Given the description of an element on the screen output the (x, y) to click on. 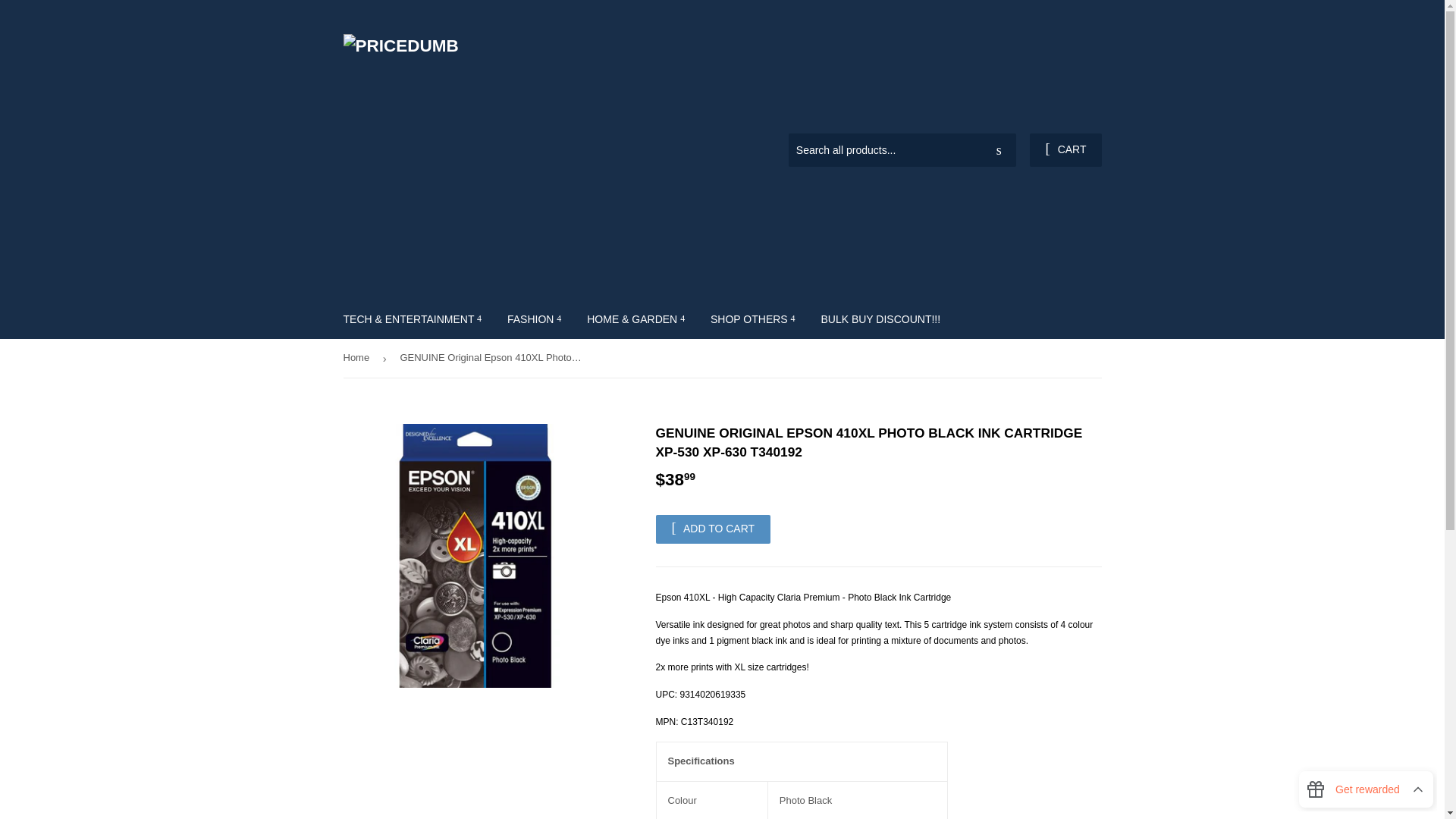
Search (998, 151)
FASHION (534, 319)
Back to the frontpage (358, 358)
CART (1064, 150)
